Given the description of an element on the screen output the (x, y) to click on. 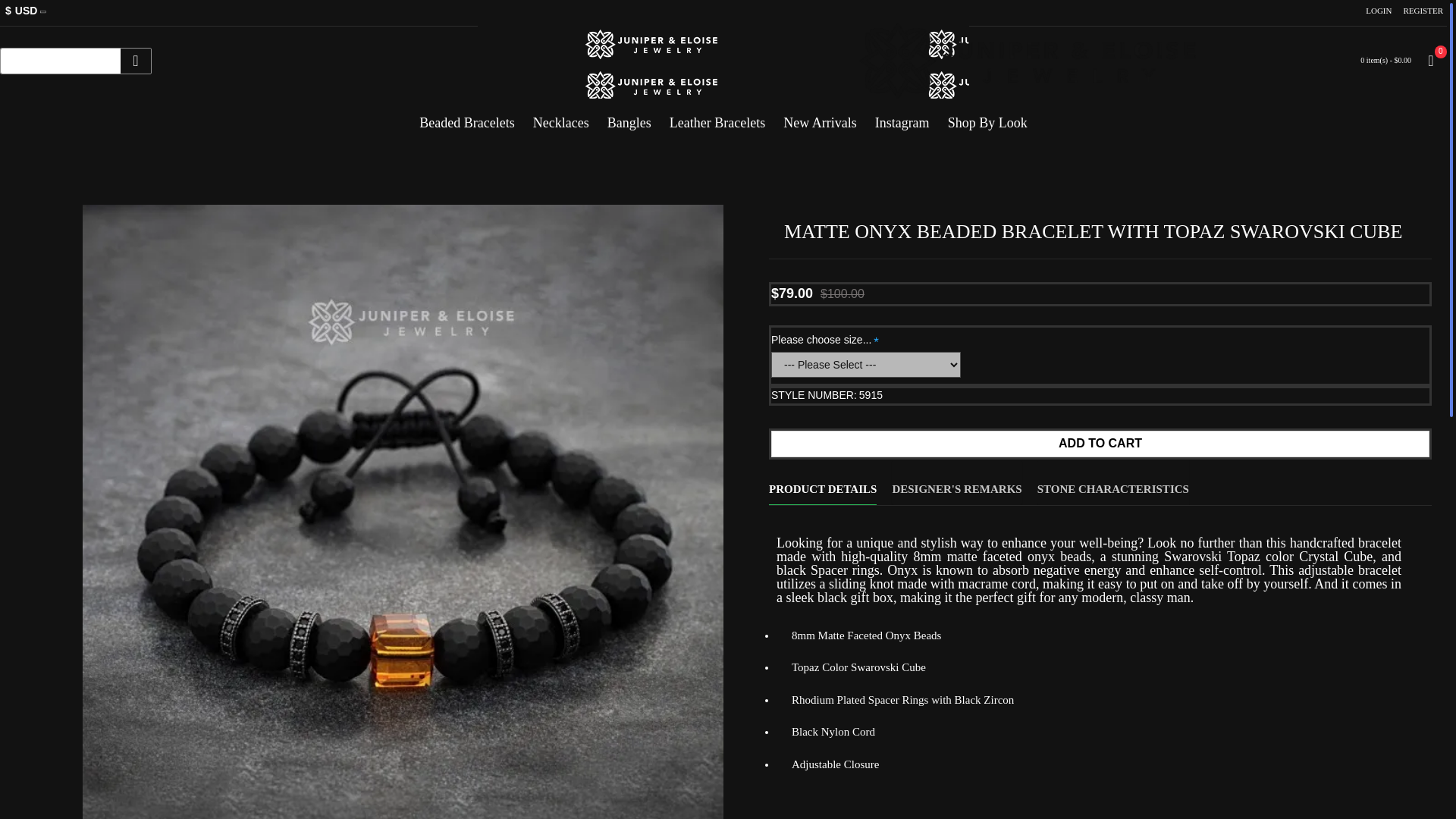
PRODUCT DETAILS (822, 481)
REGISTER (1423, 11)
Beaded Bracelets (466, 117)
Bangles (629, 117)
Shop By Look (987, 117)
LOGIN (1377, 11)
Instagram (902, 117)
ADD TO CART (1100, 443)
STONE CHARACTERISTICS (1112, 481)
New Arrivals (819, 117)
